Given the description of an element on the screen output the (x, y) to click on. 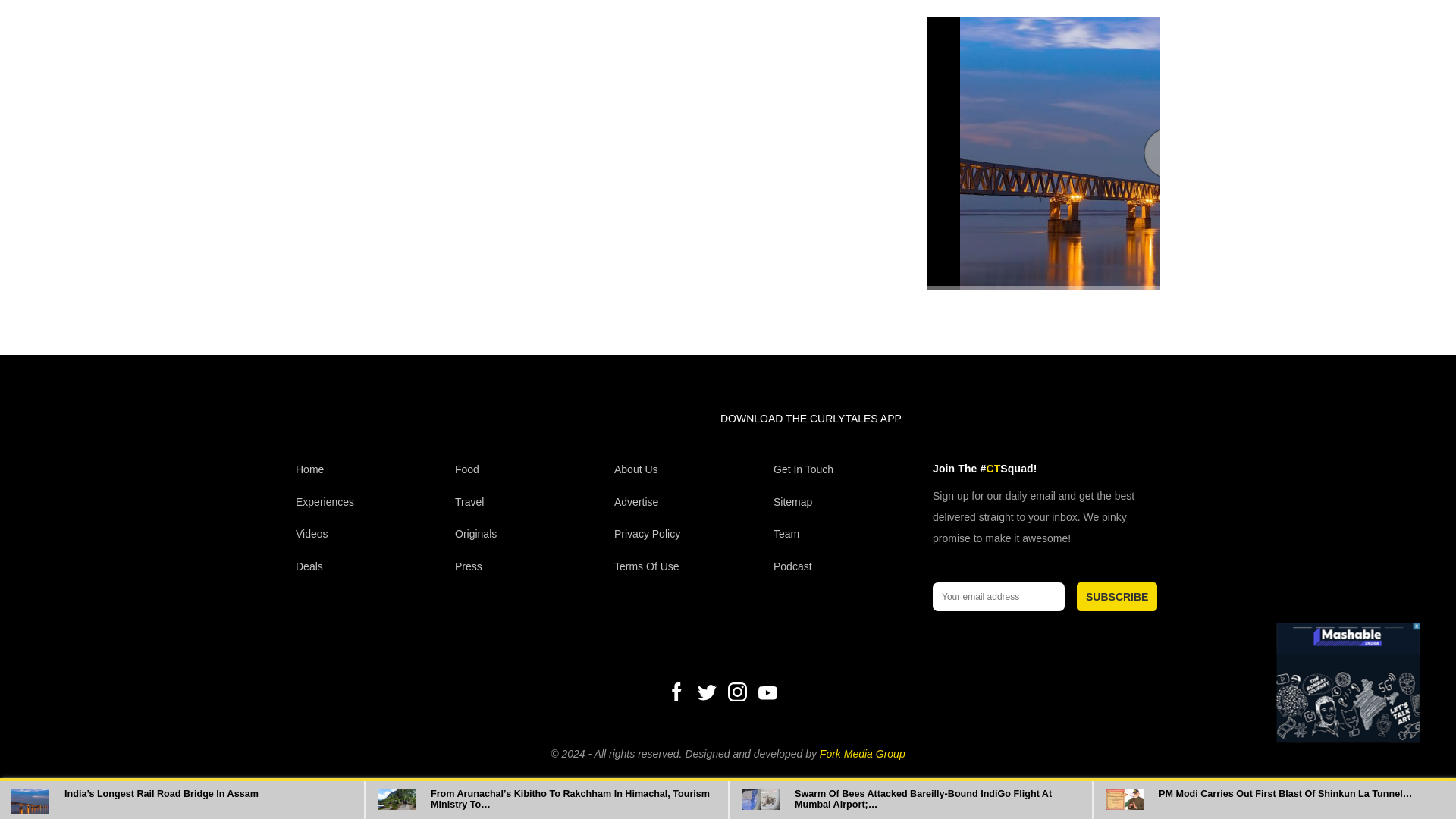
Subscribe (1117, 596)
